Given the description of an element on the screen output the (x, y) to click on. 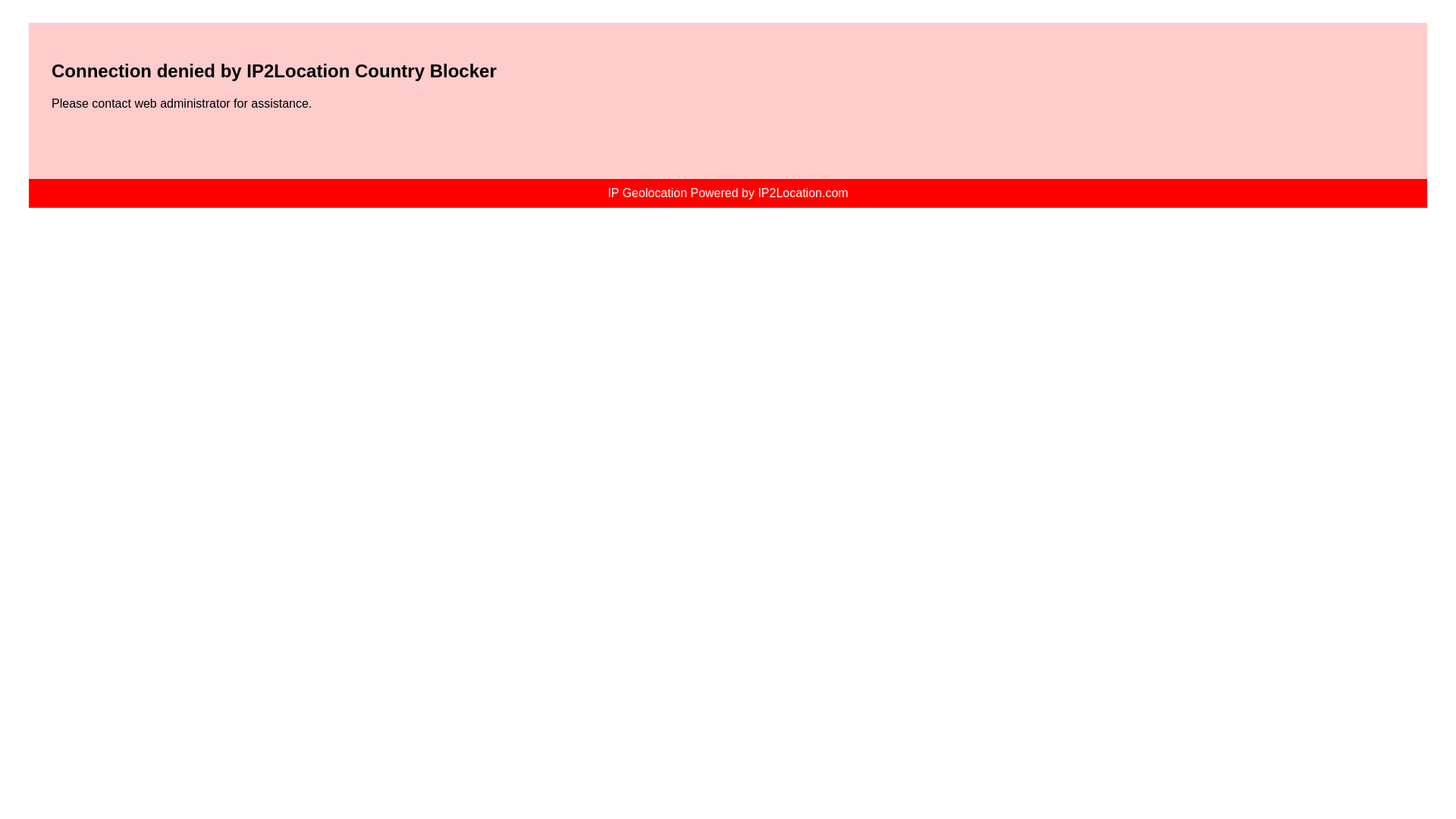
IP Geolocation Powered by IP2Location.com (727, 192)
